Given the description of an element on the screen output the (x, y) to click on. 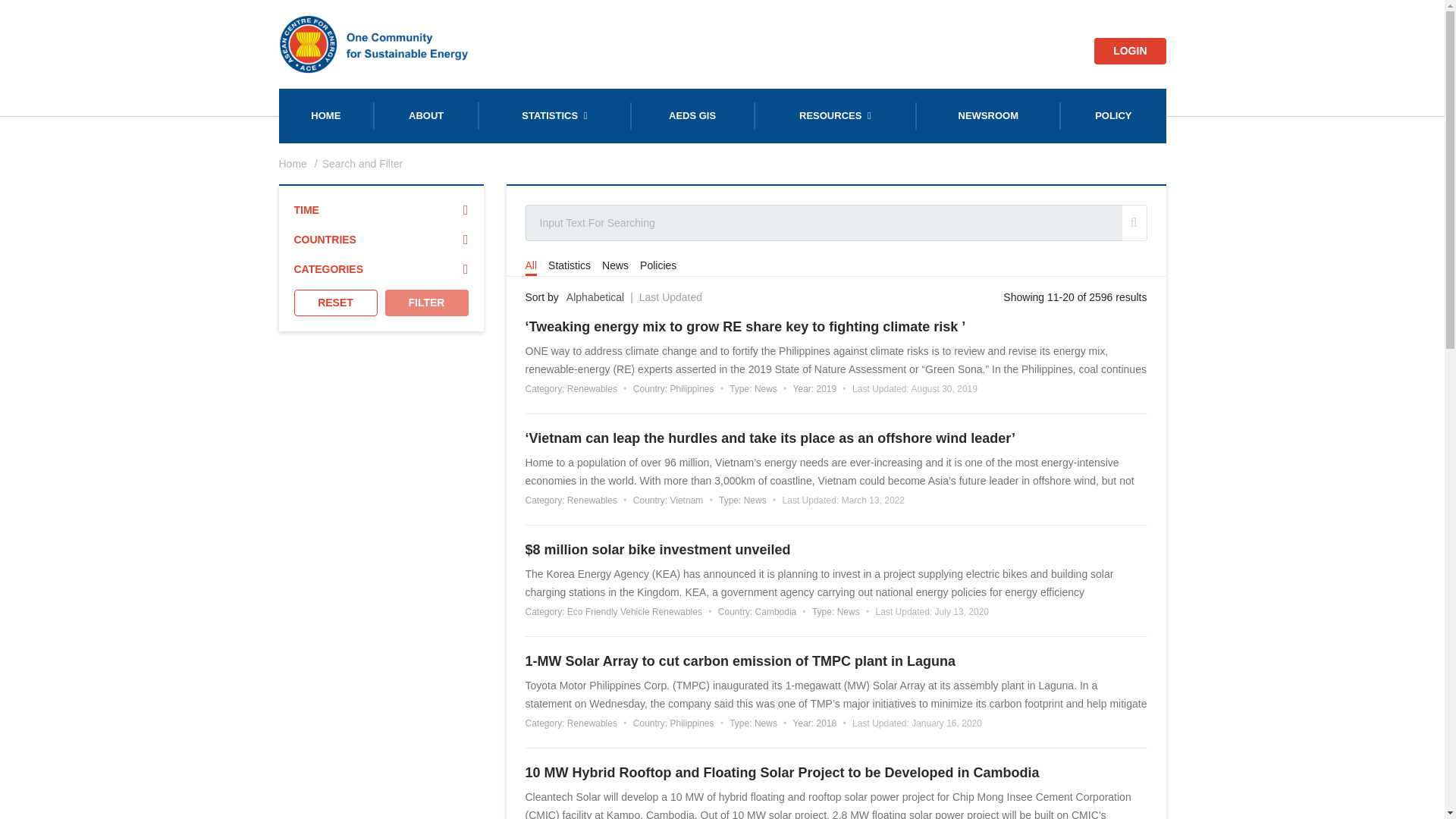
About (426, 115)
RESOURCES (835, 115)
STATISTICS (554, 115)
Statistics (554, 115)
POLICY (1112, 115)
Resources (835, 115)
News (615, 265)
All (530, 265)
ABOUT (426, 115)
